Given the description of an element on the screen output the (x, y) to click on. 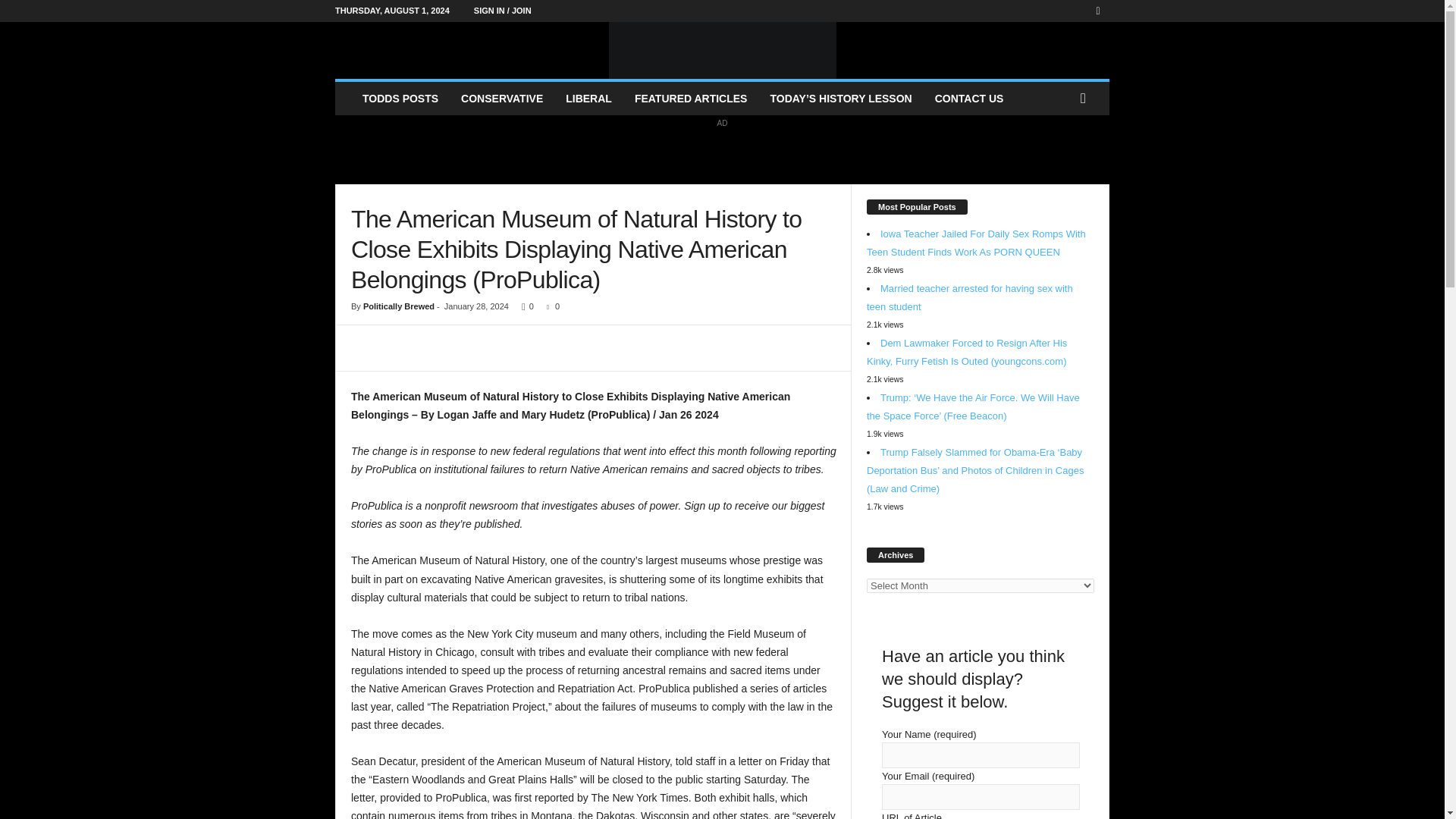
Politically Brewed (721, 50)
TODDS POSTS (399, 98)
CONSERVATIVE (501, 98)
